Given the description of an element on the screen output the (x, y) to click on. 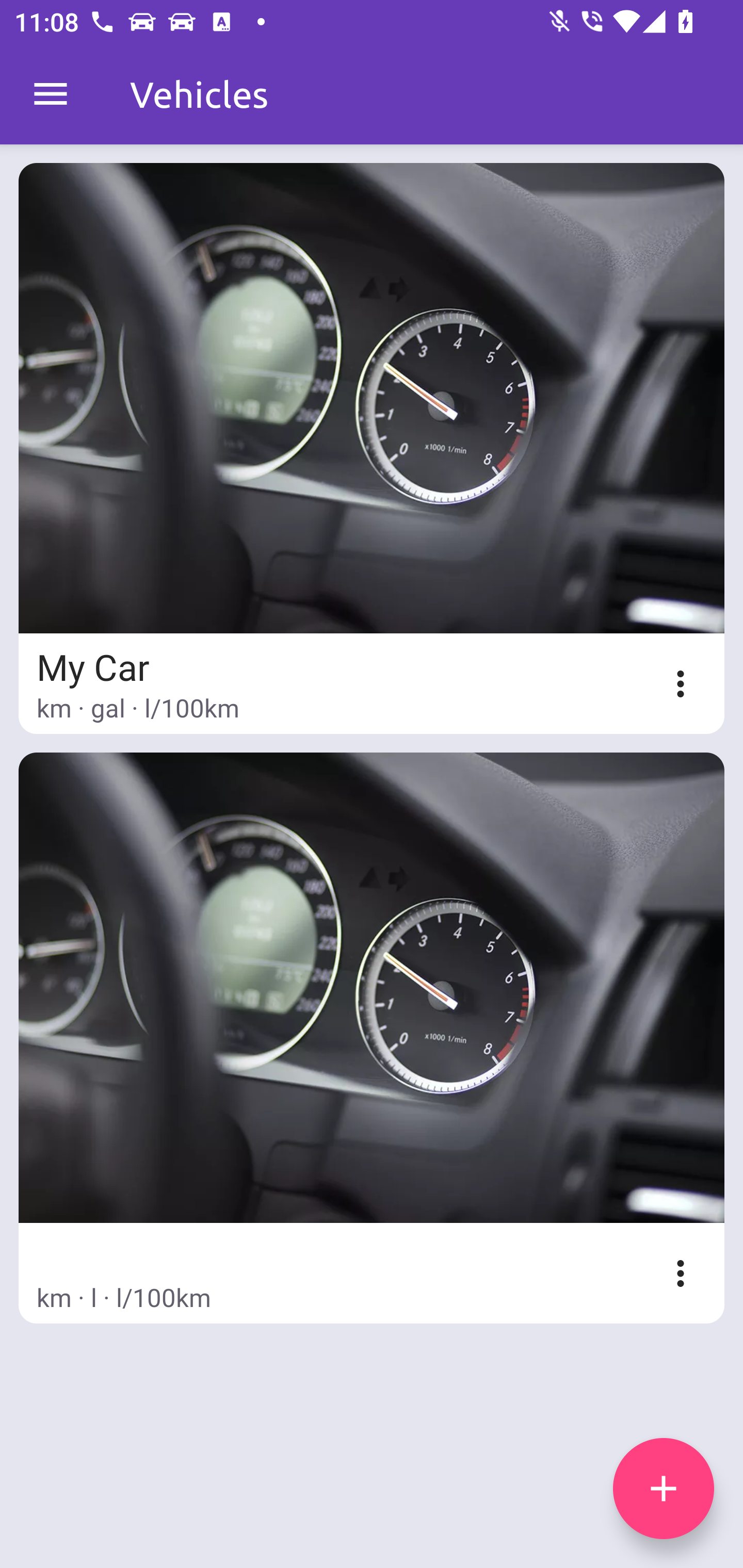
MenuDrawer (50, 93)
My Car km · gal · l/100km (371, 448)
km · l · l/100km (371, 1037)
add icon (663, 1488)
